Given the description of an element on the screen output the (x, y) to click on. 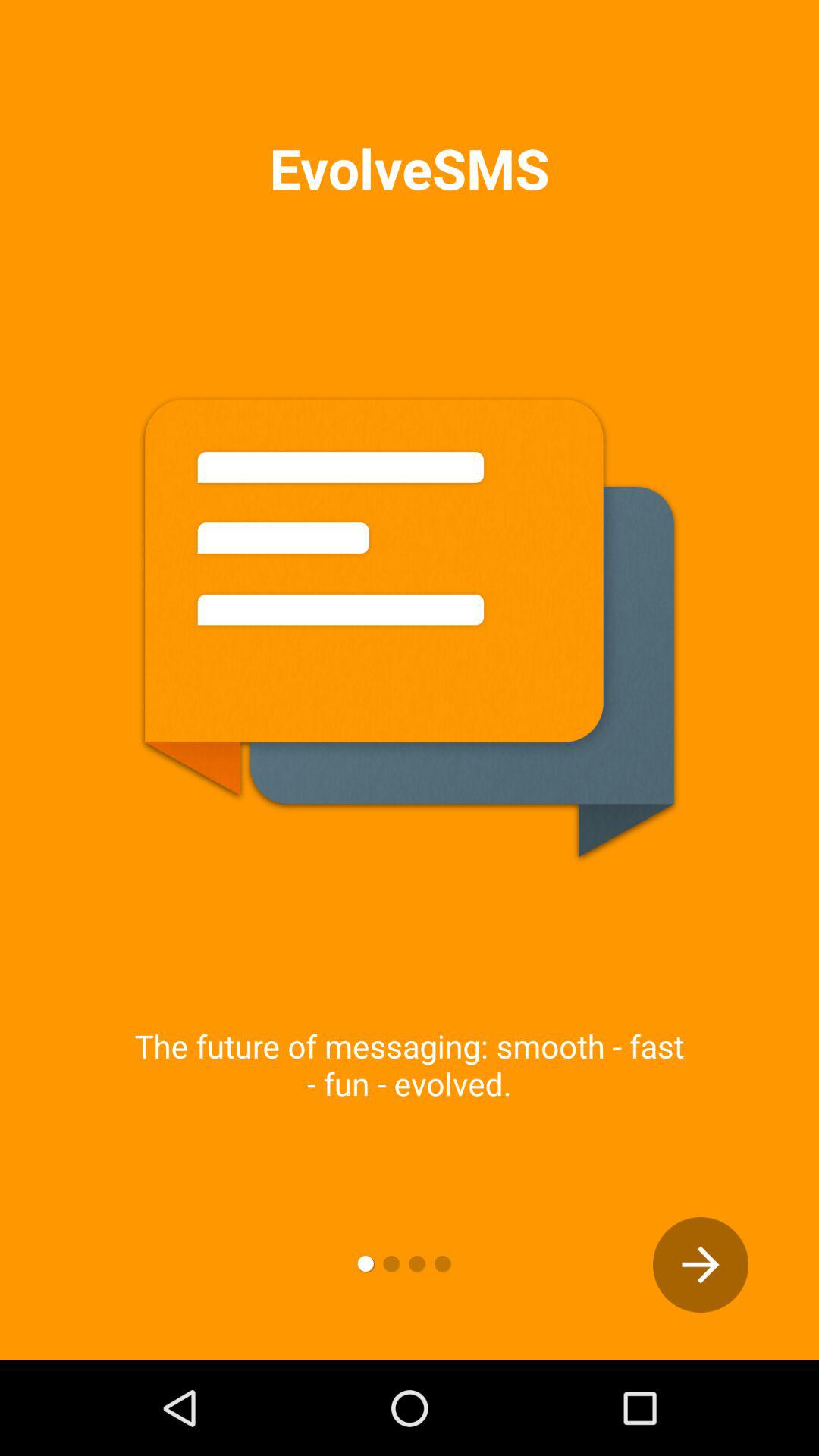
turn off the icon at the bottom right corner (700, 1264)
